Given the description of an element on the screen output the (x, y) to click on. 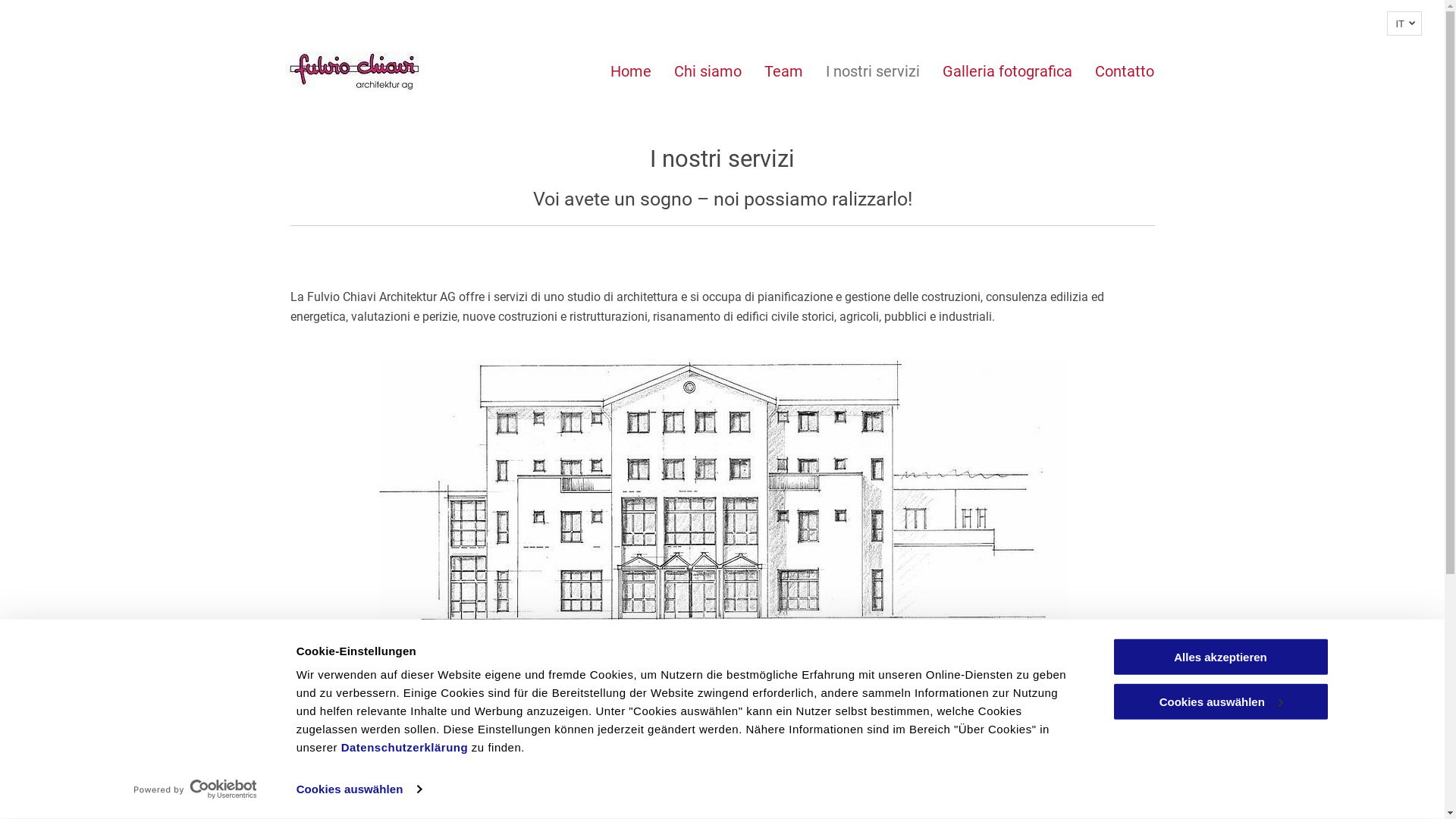
IT Element type: text (1403, 23)
Chi siamo Element type: text (707, 71)
Contatto Element type: text (1124, 71)
Team Element type: text (783, 71)
I nostri servizi Element type: text (872, 71)
Alles akzeptieren Element type: text (1219, 656)
Galleria fotografica Element type: text (1007, 71)
Home Element type: text (630, 71)
